Given the description of an element on the screen output the (x, y) to click on. 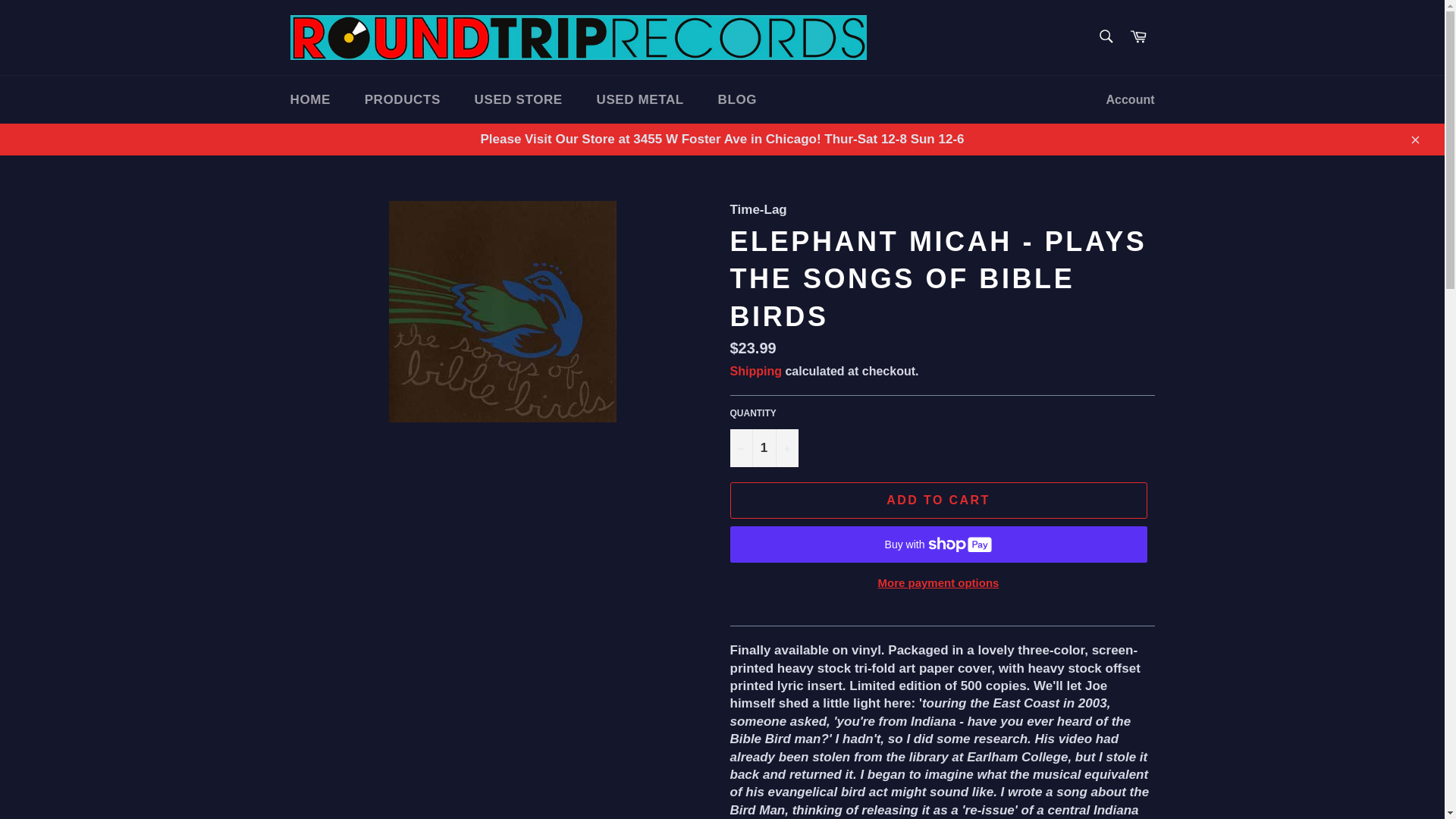
BLOG (738, 99)
Search (1104, 36)
ADD TO CART (938, 500)
HOME (310, 99)
1 (763, 447)
Account (1129, 99)
Close (1414, 138)
USED STORE (519, 99)
USED METAL (639, 99)
Shipping (754, 370)
Cart (1138, 37)
PRODUCTS (402, 99)
More payment options (938, 583)
